Given the description of an element on the screen output the (x, y) to click on. 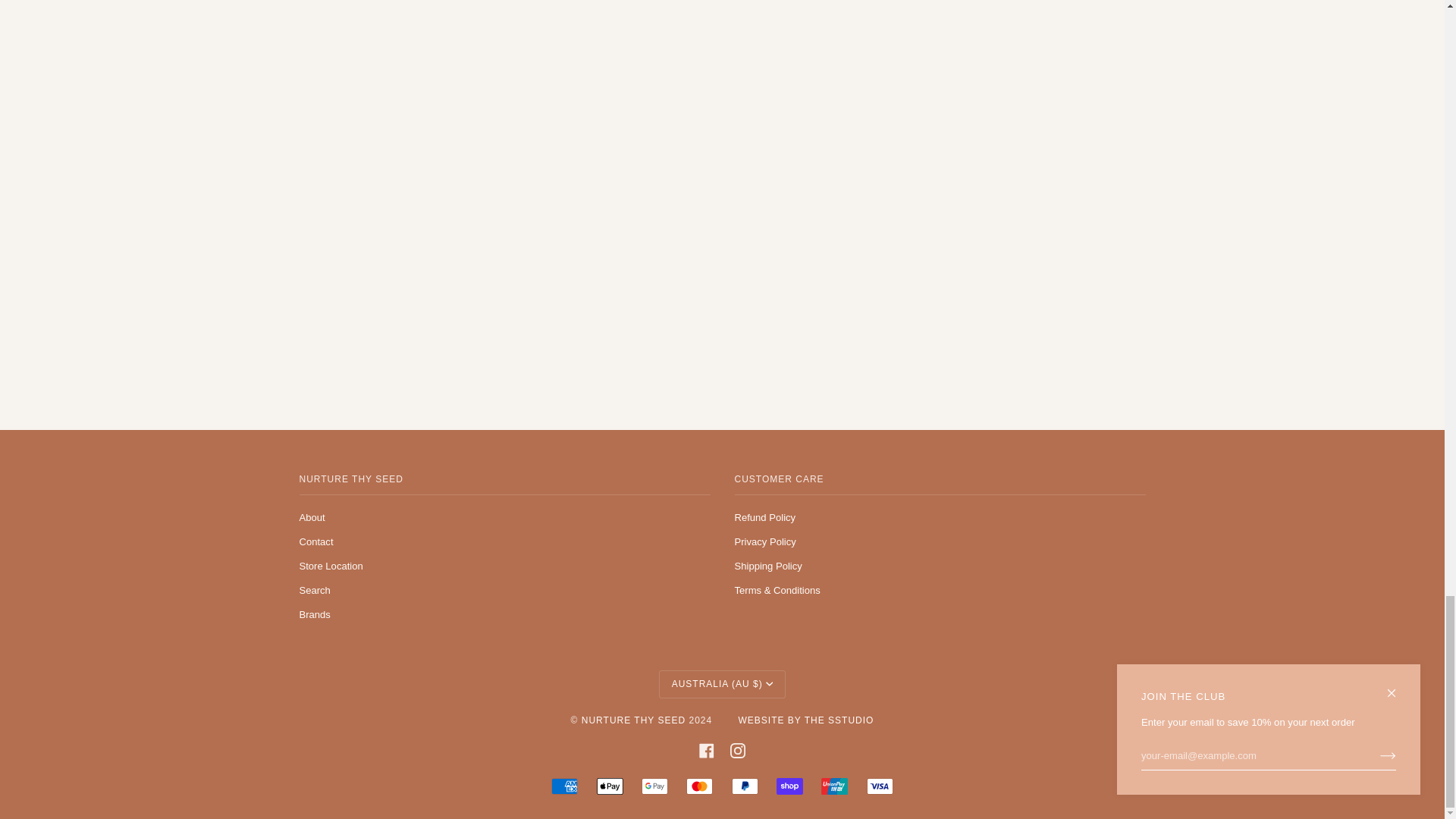
APPLE PAY (609, 786)
Facebook (706, 750)
PAYPAL (745, 786)
MASTERCARD (699, 786)
AMERICAN EXPRESS (564, 786)
SHOP PAY (789, 786)
VISA (879, 786)
GOOGLE PAY (655, 786)
UNION PAY (834, 786)
Instagram (737, 750)
